Given the description of an element on the screen output the (x, y) to click on. 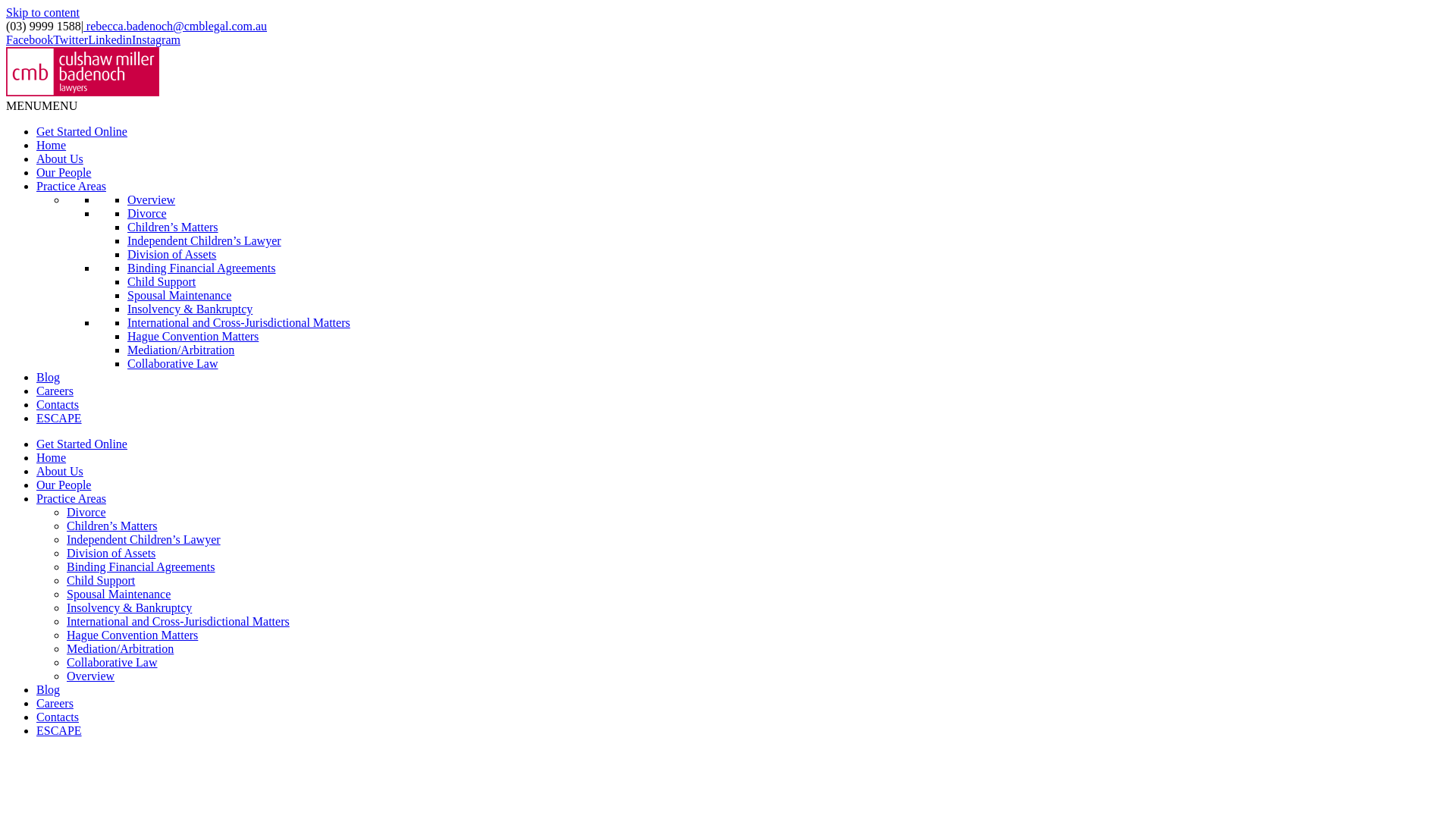
Insolvency & Bankruptcy Element type: text (189, 308)
Overview Element type: text (90, 675)
Blog Element type: text (47, 689)
Twitter Element type: text (70, 39)
International and Cross-Jurisdictional Matters Element type: text (238, 322)
Facebook Element type: text (29, 39)
Hague Convention Matters Element type: text (131, 634)
Home Element type: text (50, 457)
Division of Assets Element type: text (110, 552)
Hague Convention Matters Element type: text (192, 335)
rebecca.badenoch@cmblegal.com.au Element type: text (174, 25)
Instagram Element type: text (155, 39)
Contacts Element type: text (57, 404)
Get Started Online Element type: text (81, 443)
Get Started Online Element type: text (81, 131)
Spousal Maintenance Element type: text (179, 294)
Divorce Element type: text (86, 511)
Our People Element type: text (63, 484)
Blog Element type: text (47, 376)
Careers Element type: text (54, 702)
Skip to content Element type: text (42, 12)
Home Element type: text (50, 144)
Collaborative Law Element type: text (111, 661)
Child Support Element type: text (100, 580)
Binding Financial Agreements Element type: text (140, 566)
About Us Element type: text (59, 158)
ESCAPE Element type: text (58, 417)
Contacts Element type: text (57, 716)
Linkedin Element type: text (109, 39)
About Us Element type: text (59, 470)
Our People Element type: text (63, 172)
Collaborative Law Element type: text (172, 363)
Careers Element type: text (54, 390)
International and Cross-Jurisdictional Matters Element type: text (177, 621)
Practice Areas Element type: text (71, 498)
Insolvency & Bankruptcy Element type: text (128, 607)
Mediation/Arbitration Element type: text (119, 648)
ESCAPE Element type: text (58, 730)
Child Support Element type: text (161, 281)
Division of Assets Element type: text (171, 253)
Mediation/Arbitration Element type: text (180, 349)
Divorce Element type: text (146, 213)
Binding Financial Agreements Element type: text (201, 267)
Overview Element type: text (151, 199)
Practice Areas Element type: text (71, 185)
Spousal Maintenance Element type: text (118, 593)
